Given the description of an element on the screen output the (x, y) to click on. 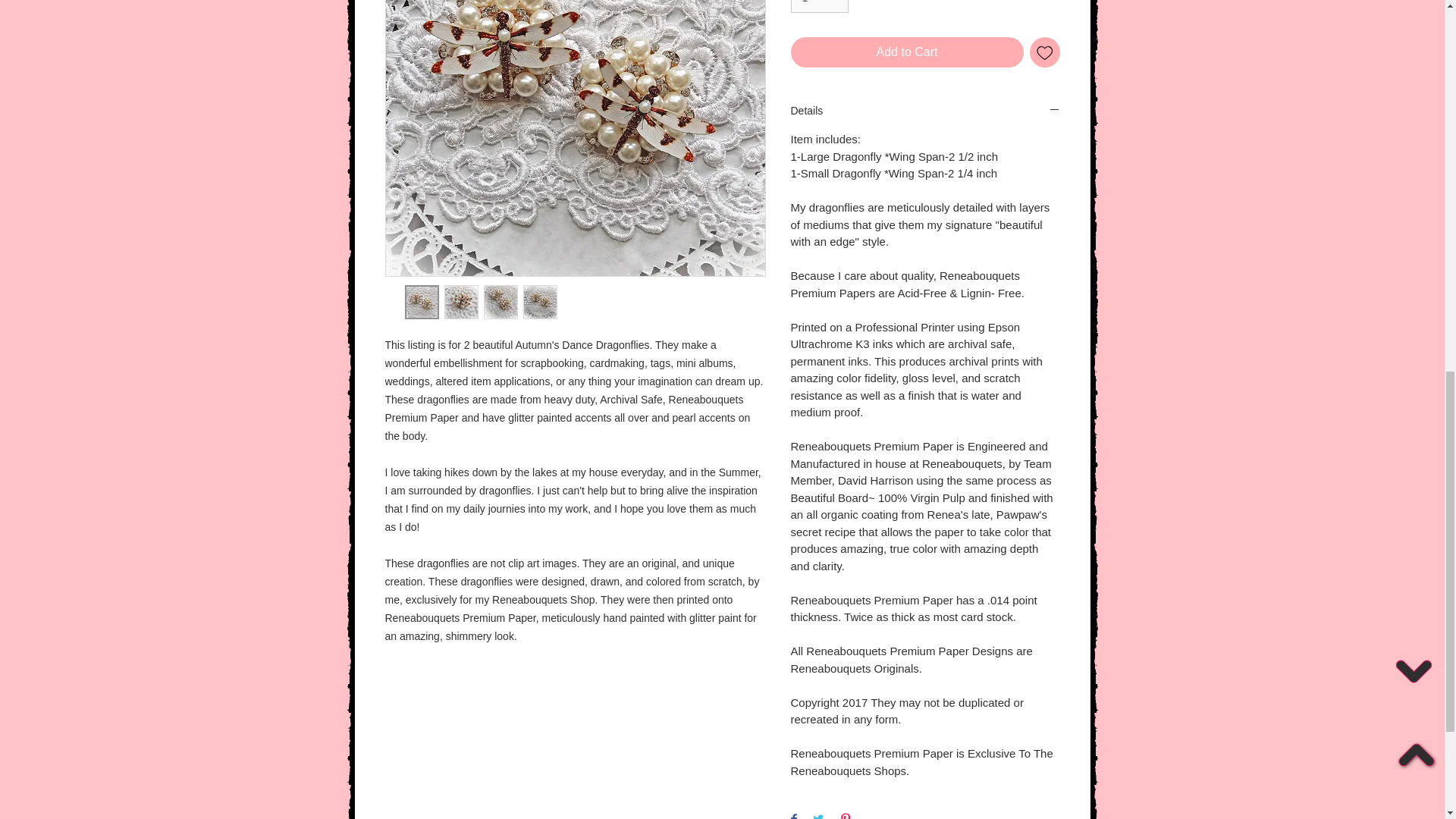
Details (924, 110)
Add to Cart (906, 51)
1 (818, 6)
